Given the description of an element on the screen output the (x, y) to click on. 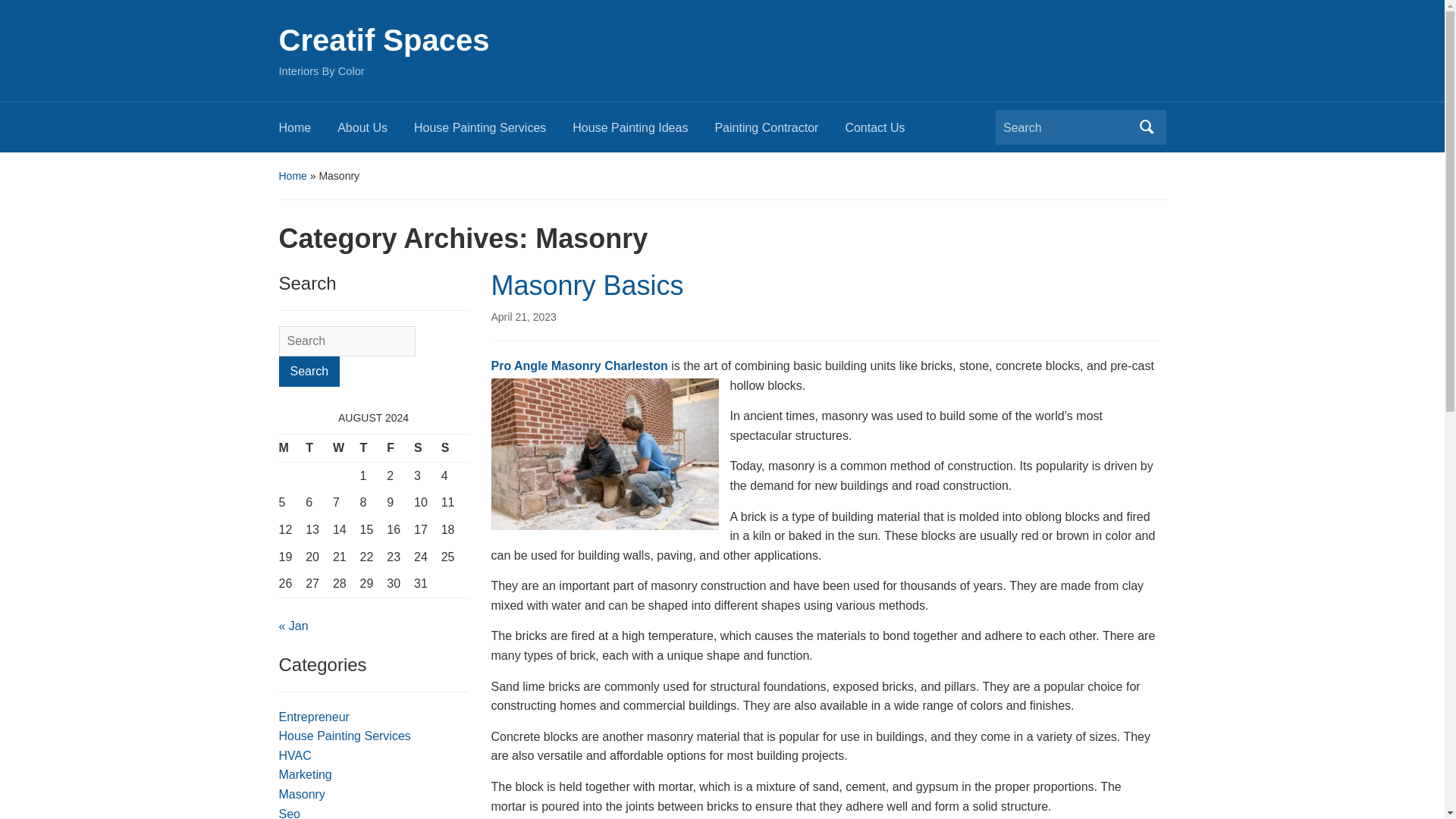
Home (293, 175)
Pro Angle Masonry Charleston (580, 365)
House Painting Services (344, 735)
Creatif Spaces (384, 39)
Permanent Link to Masonry Basics (524, 316)
Home (308, 131)
Friday (400, 448)
Masonry (301, 793)
Painting Contractor (779, 131)
Search (309, 371)
